Given the description of an element on the screen output the (x, y) to click on. 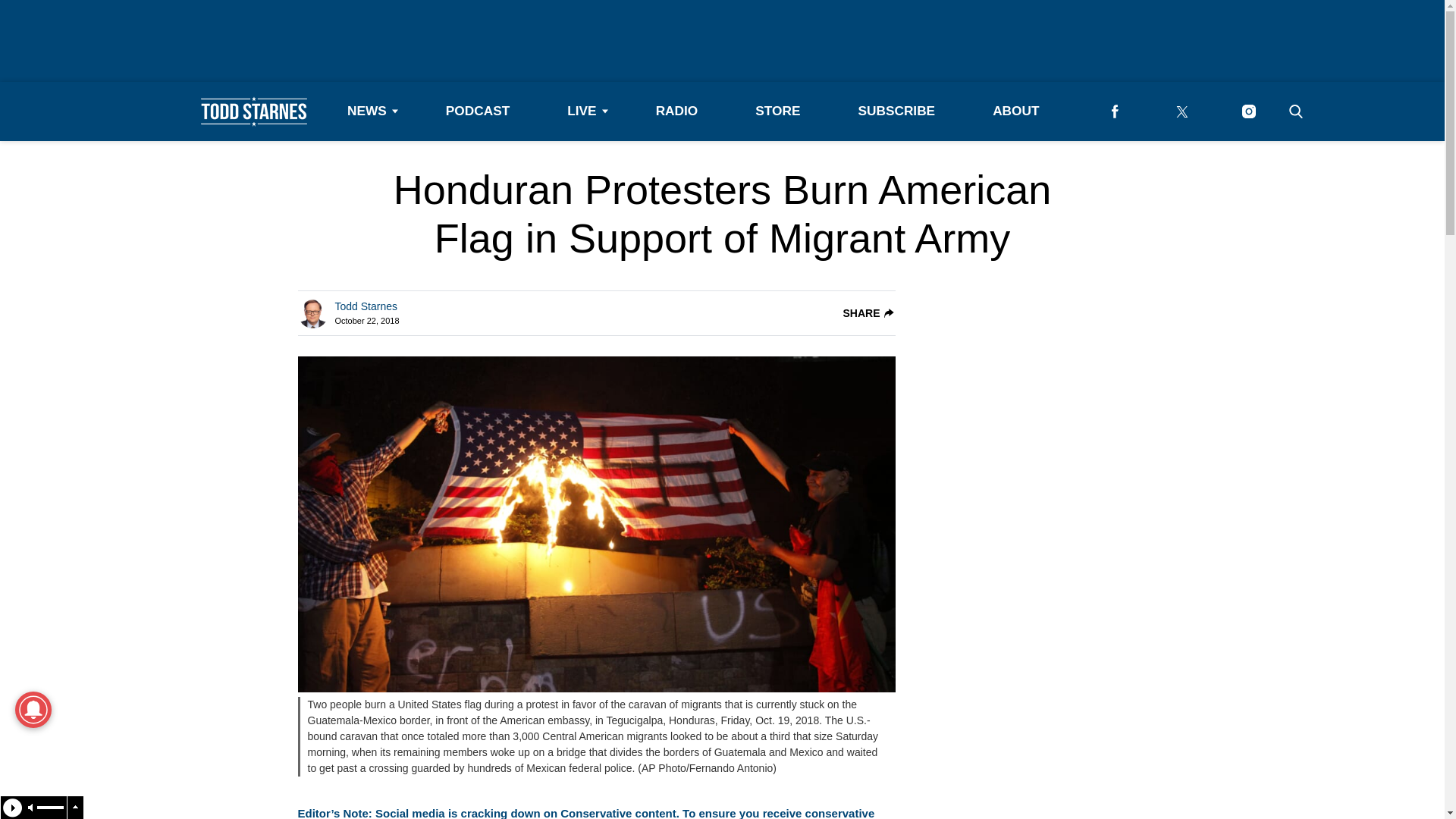
NEWS (367, 110)
LIVE (582, 110)
ABOUT (1015, 110)
Posts by Todd Starnes (365, 306)
SUBSCRIBE (896, 110)
STORE (777, 110)
PODCAST (477, 110)
RADIO (676, 110)
Todd Starnes (365, 306)
